Given the description of an element on the screen output the (x, y) to click on. 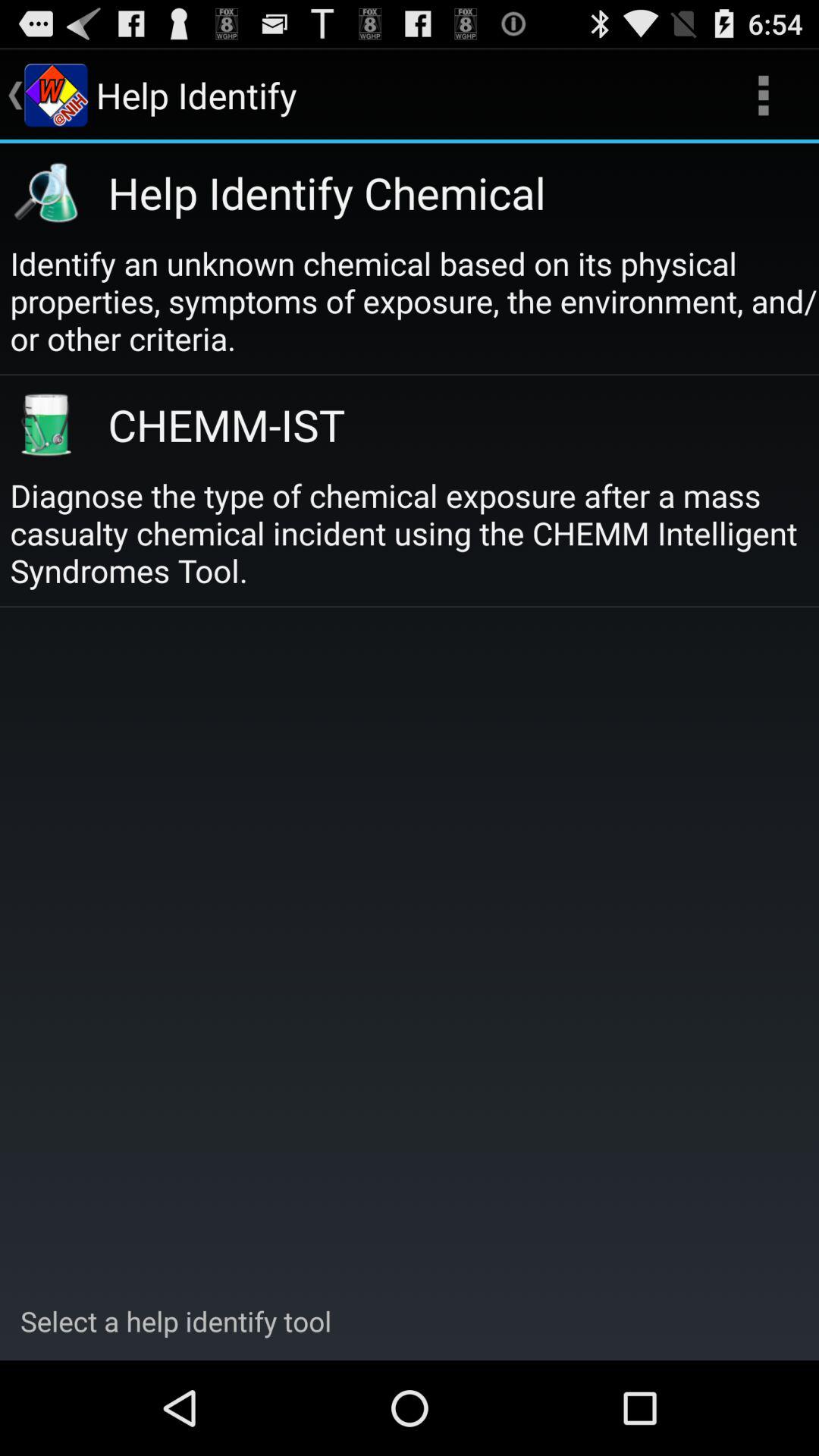
click icon next to help identify item (763, 95)
